Given the description of an element on the screen output the (x, y) to click on. 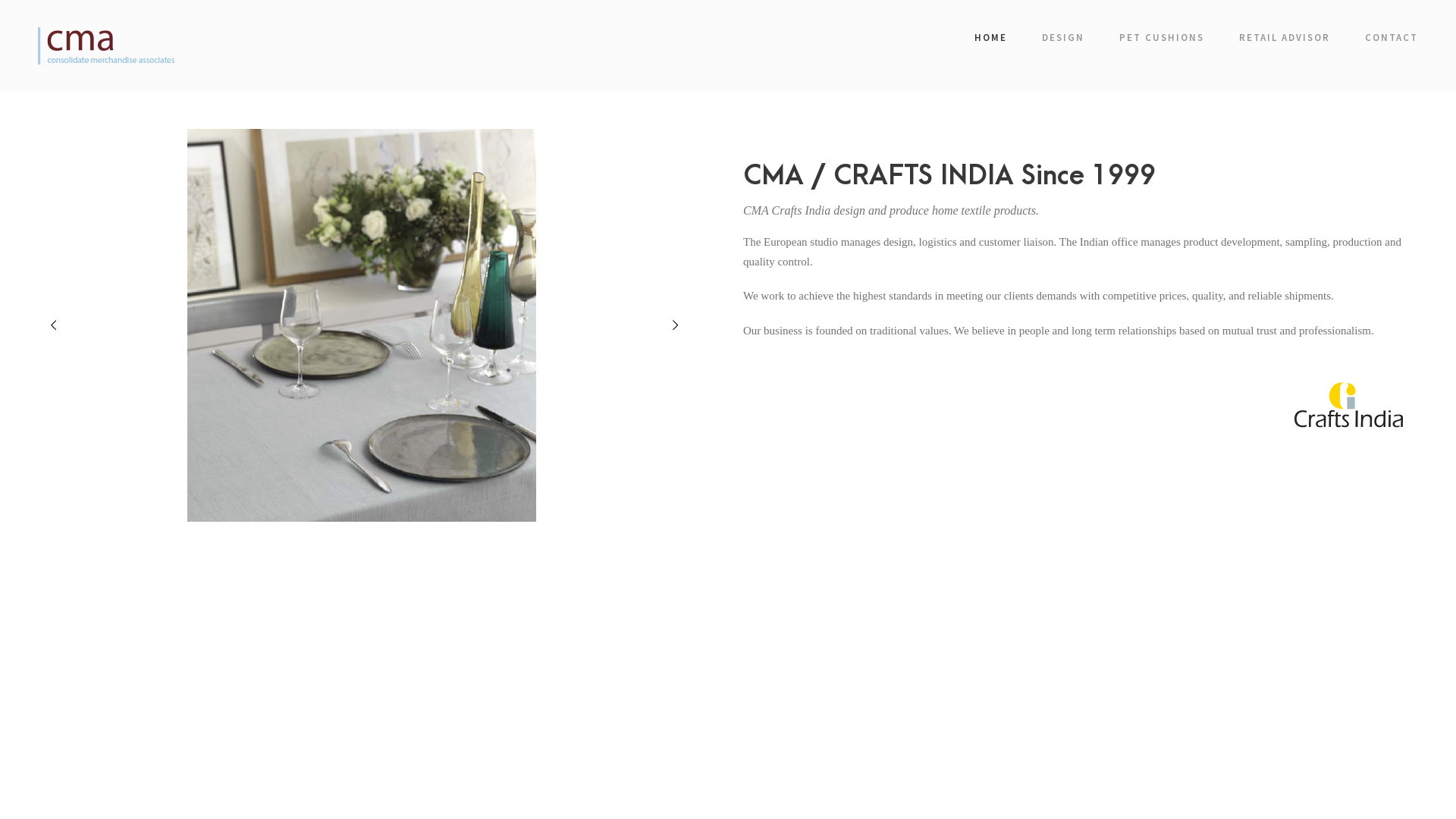
DESIGN Element type: text (1062, 41)
HOME Element type: text (990, 41)
PET CUSHIONS Element type: text (1161, 41)
RETAIL ADVISOR Element type: text (1284, 41)
CONTACT Element type: text (1391, 41)
